Given the description of an element on the screen output the (x, y) to click on. 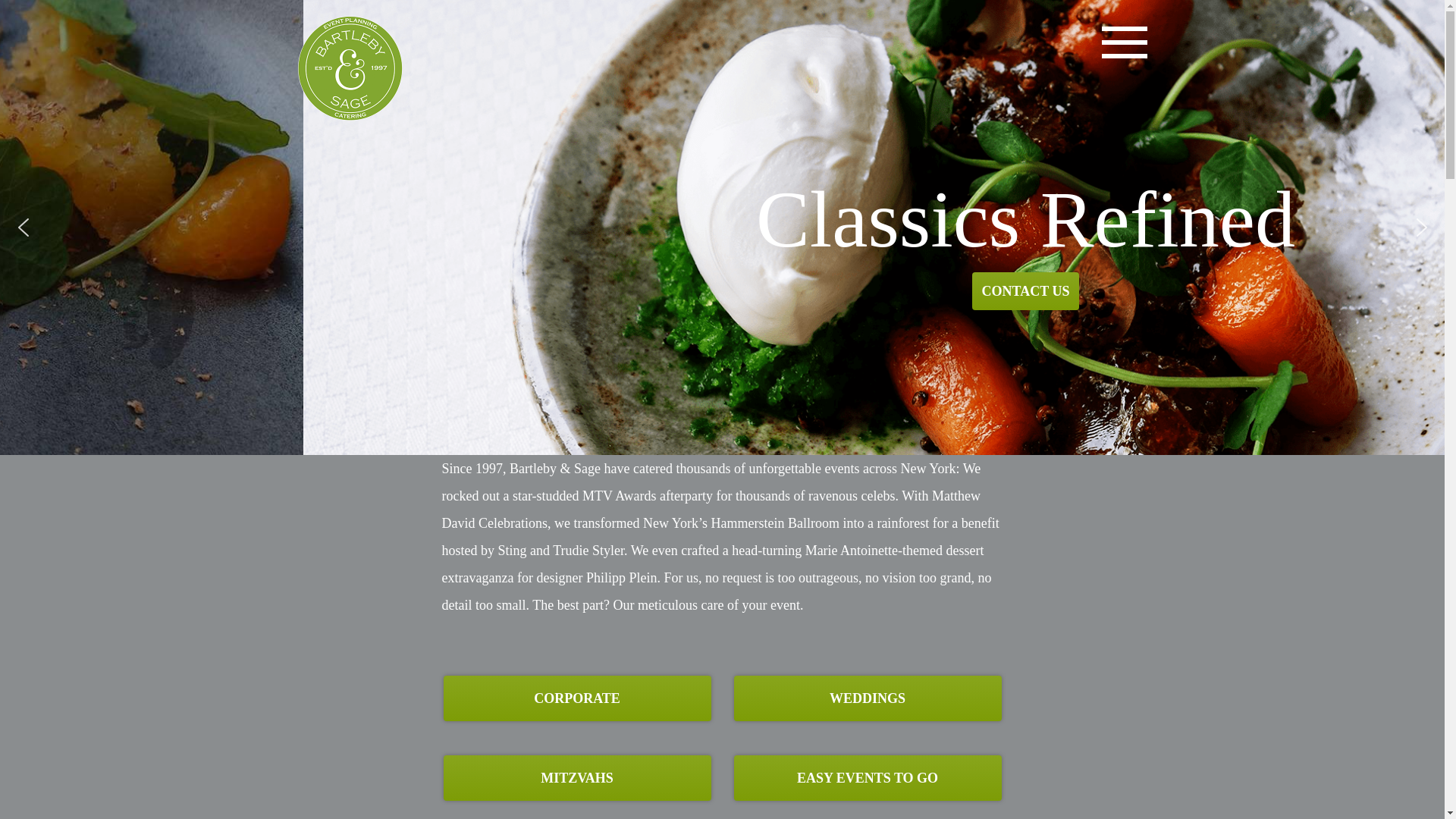
EASY EVENTS TO GO (867, 777)
WEDDINGS (867, 698)
MITZVAHS (576, 777)
CORPORATE (576, 698)
CONTACT US (1026, 290)
